Given the description of an element on the screen output the (x, y) to click on. 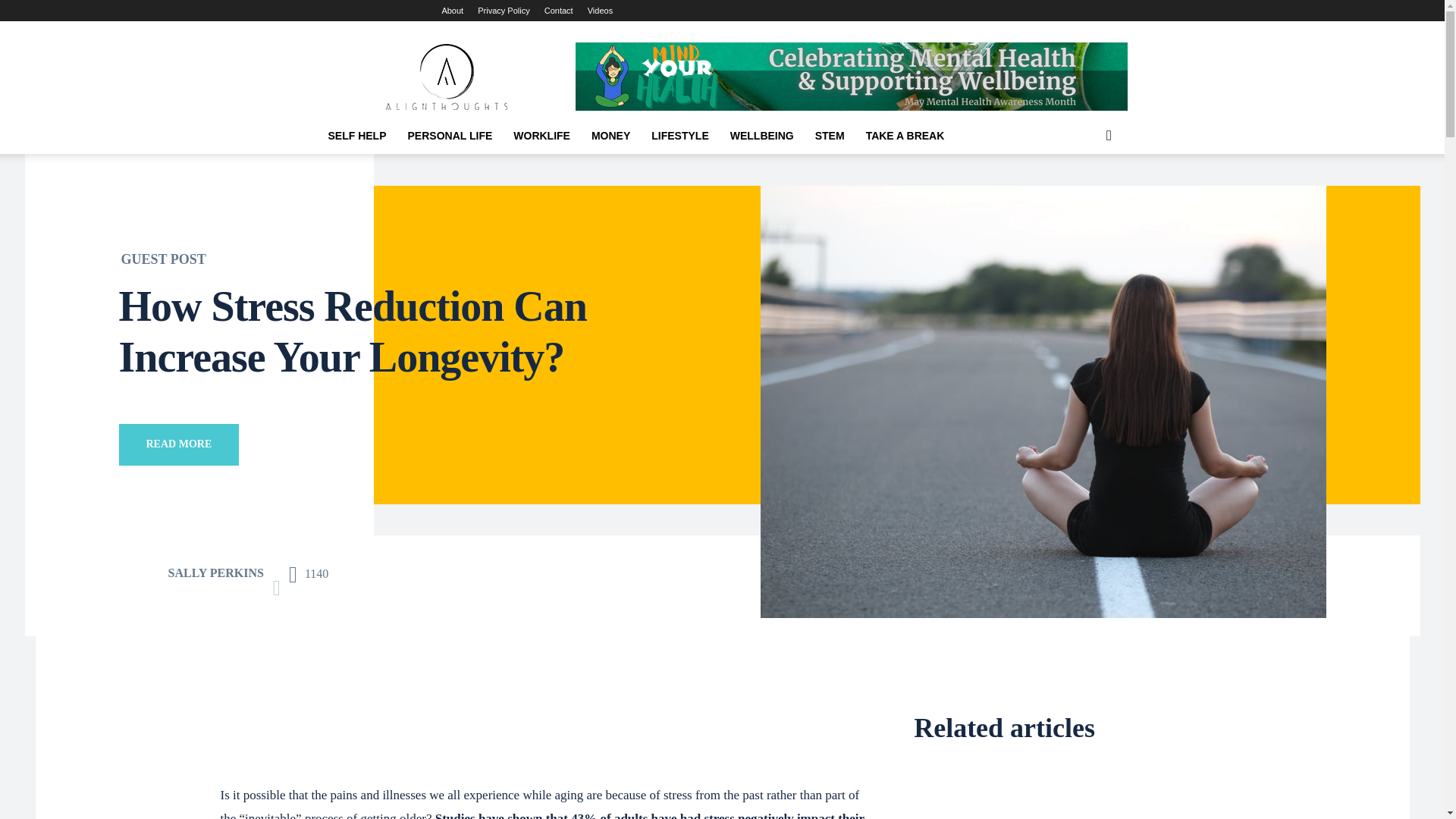
Privacy Policy (503, 10)
Read More (177, 445)
Sally Perkins (141, 573)
Videos (600, 10)
Contact (558, 10)
About (452, 10)
Invest In Yourself (356, 135)
